Given the description of an element on the screen output the (x, y) to click on. 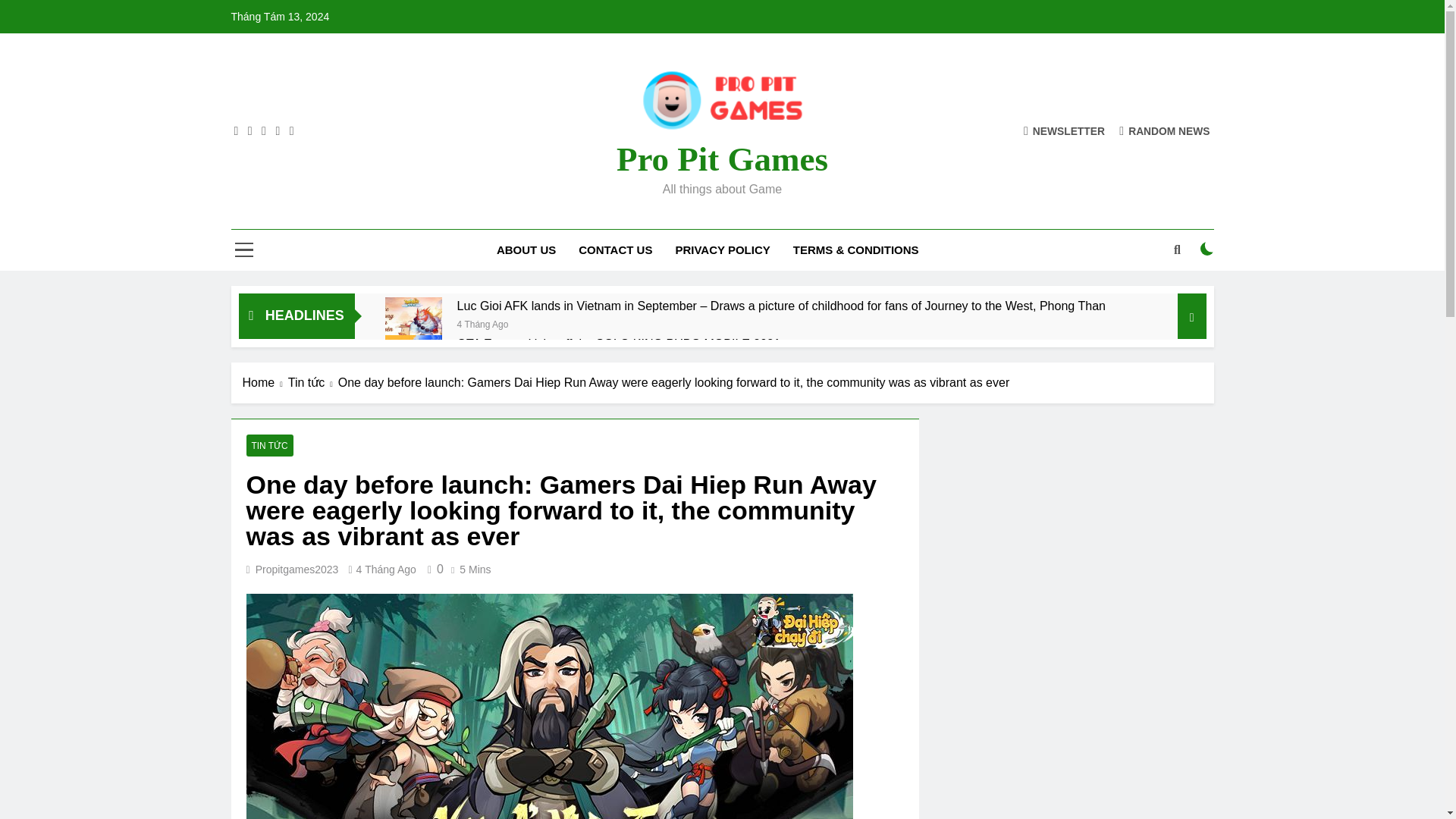
NEWSLETTER (1064, 130)
Pro Pit Games (721, 159)
CONTACT US (615, 250)
on (1206, 248)
ABOUT US (525, 250)
PRIVACY POLICY (721, 250)
RANDOM NEWS (1164, 130)
